Given the description of an element on the screen output the (x, y) to click on. 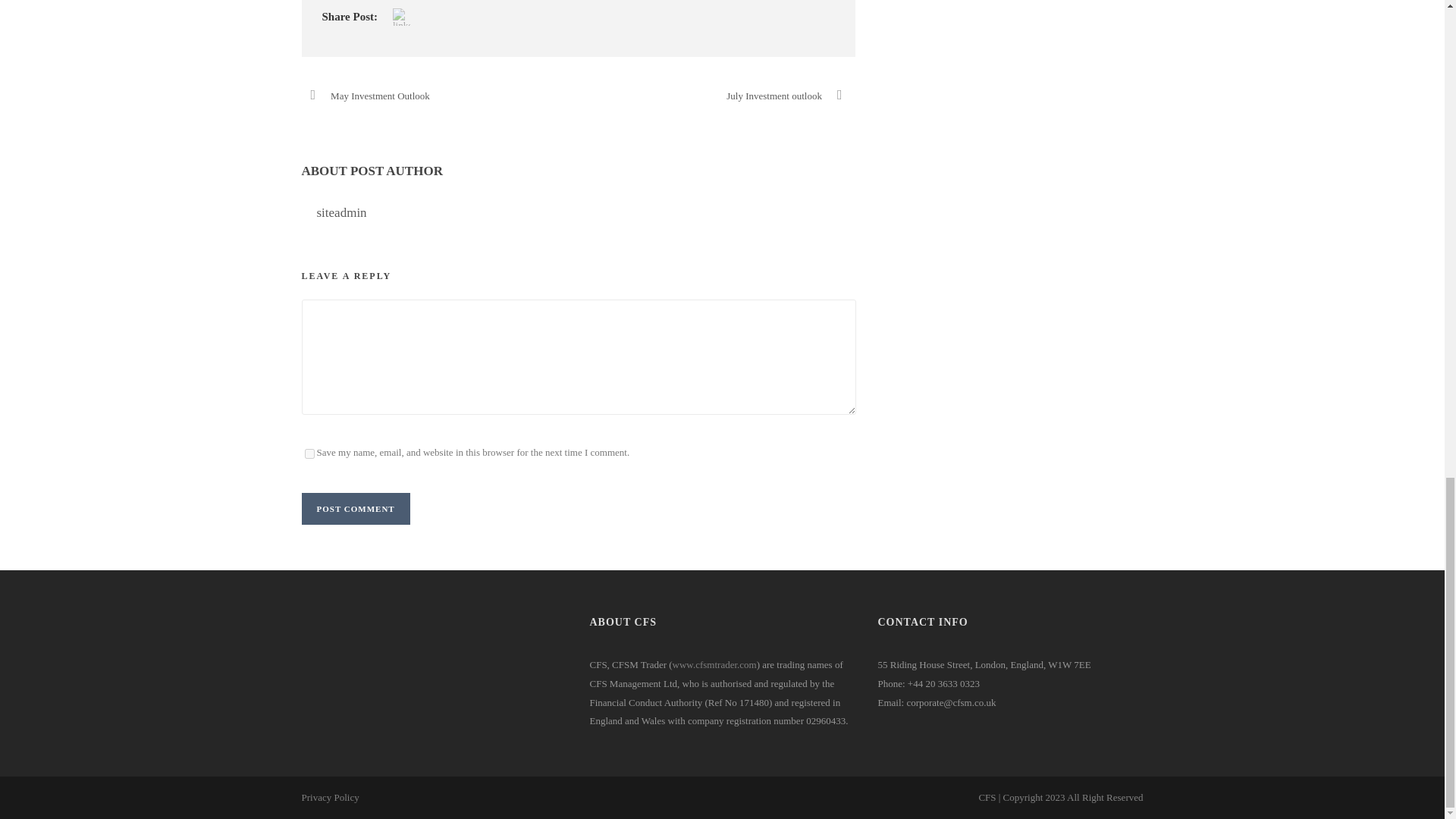
yes (309, 453)
siteadmin (341, 212)
May Investment Outlook (365, 95)
Post Comment (355, 508)
July Investment outlook (790, 95)
Posts by siteadmin (341, 212)
